Given the description of an element on the screen output the (x, y) to click on. 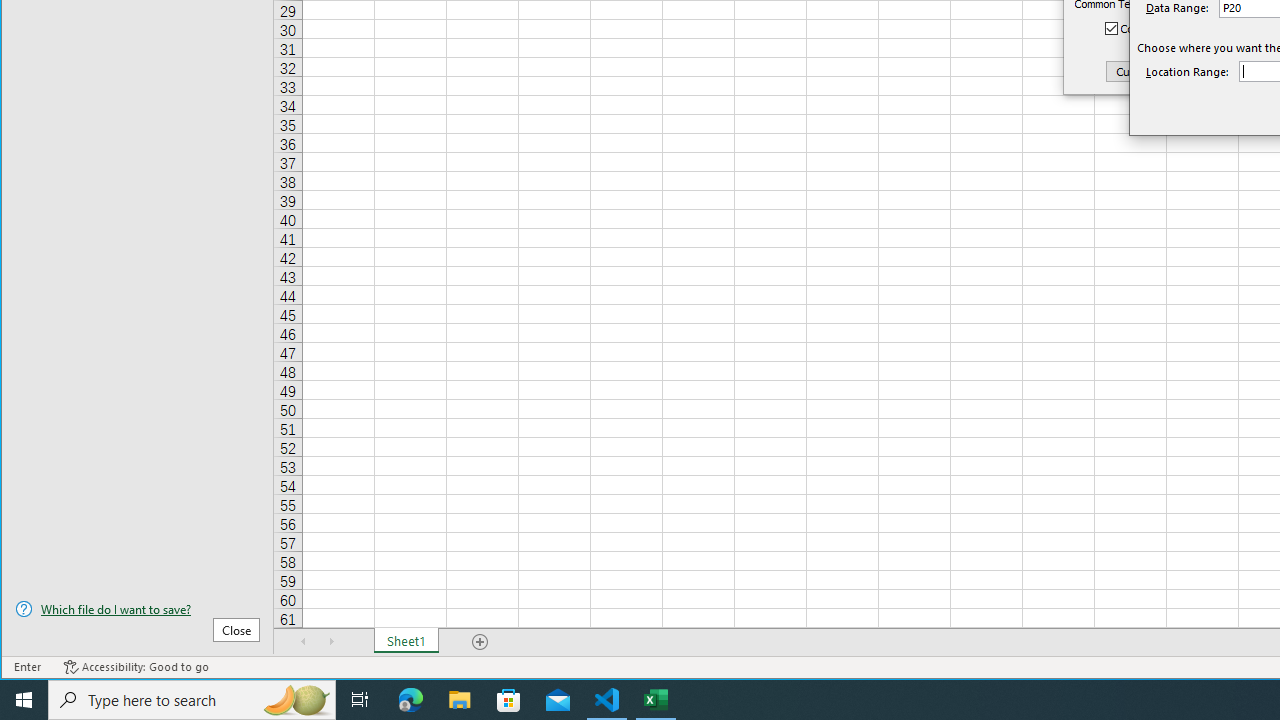
Microsoft Store (509, 699)
